Given the description of an element on the screen output the (x, y) to click on. 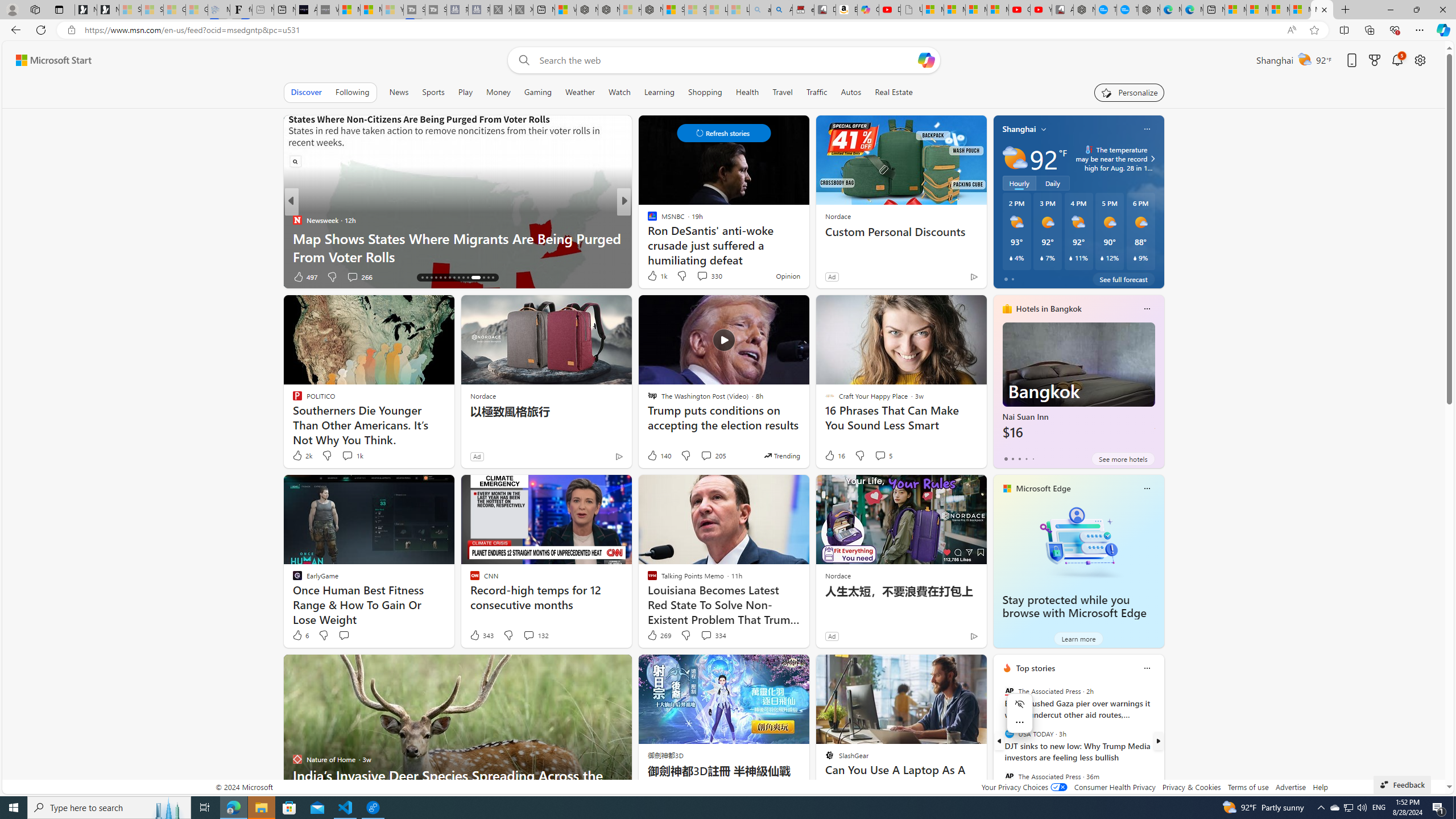
View comments 132 Comment (535, 634)
2k Like (301, 455)
Open settings (1420, 60)
Real Estate (893, 92)
All Cubot phones (1062, 9)
hotels-header-icon (1006, 308)
See full forecast (1123, 278)
Nordace - Nordace has arrived Hong Kong (1149, 9)
More actions (1019, 722)
View comments 6 Comment (6, 276)
View comments 96 Comment (707, 276)
Learn more (1078, 638)
